Given the description of an element on the screen output the (x, y) to click on. 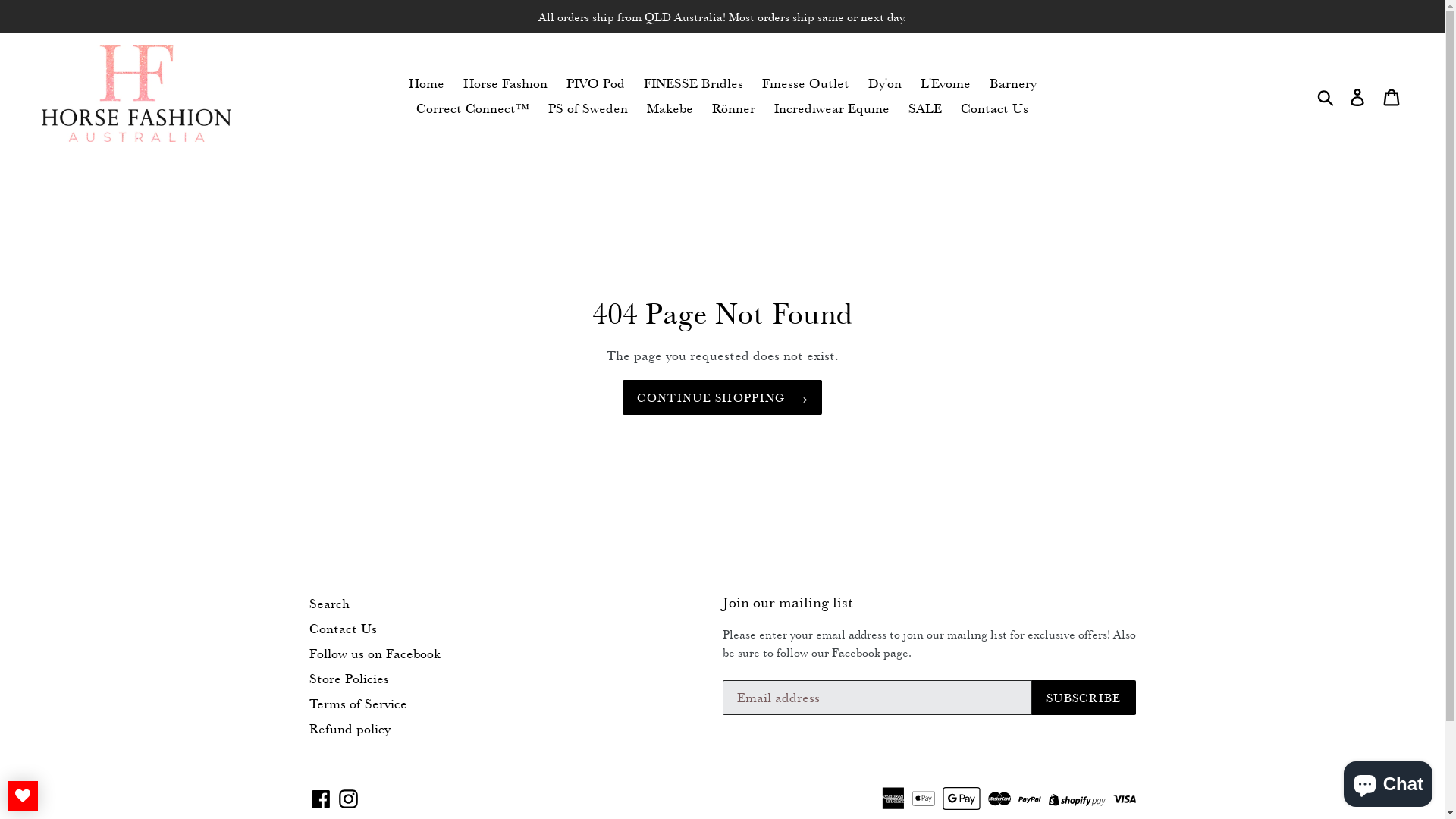
Makebe Element type: text (669, 107)
Dy'on Element type: text (883, 82)
MY WISHLIST Element type: text (22, 796)
Refund policy Element type: text (349, 728)
Store Policies Element type: text (349, 678)
PS of Sweden Element type: text (587, 107)
Instagram Element type: text (348, 797)
Contact Us Element type: text (994, 107)
PIVO Pod Element type: text (594, 82)
Follow us on Facebook Element type: text (374, 653)
Facebook Element type: text (320, 797)
Search Element type: text (329, 603)
Terms of Service Element type: text (358, 703)
FINESSE Bridles Element type: text (692, 82)
Log in Element type: text (1358, 95)
CONTINUE SHOPPING Element type: text (722, 396)
Horse Fashion Element type: text (504, 82)
Barnery Element type: text (1012, 82)
L'Evoine Element type: text (945, 82)
Home Element type: text (425, 82)
Cart Element type: text (1392, 95)
Contact Us Element type: text (342, 628)
Finesse Outlet Element type: text (804, 82)
Submit Element type: text (1326, 95)
SALE Element type: text (924, 107)
Incrediwear Equine Element type: text (831, 107)
SUBSCRIBE Element type: text (1083, 697)
Shopify online store chat Element type: hover (1388, 780)
